Given the description of an element on the screen output the (x, y) to click on. 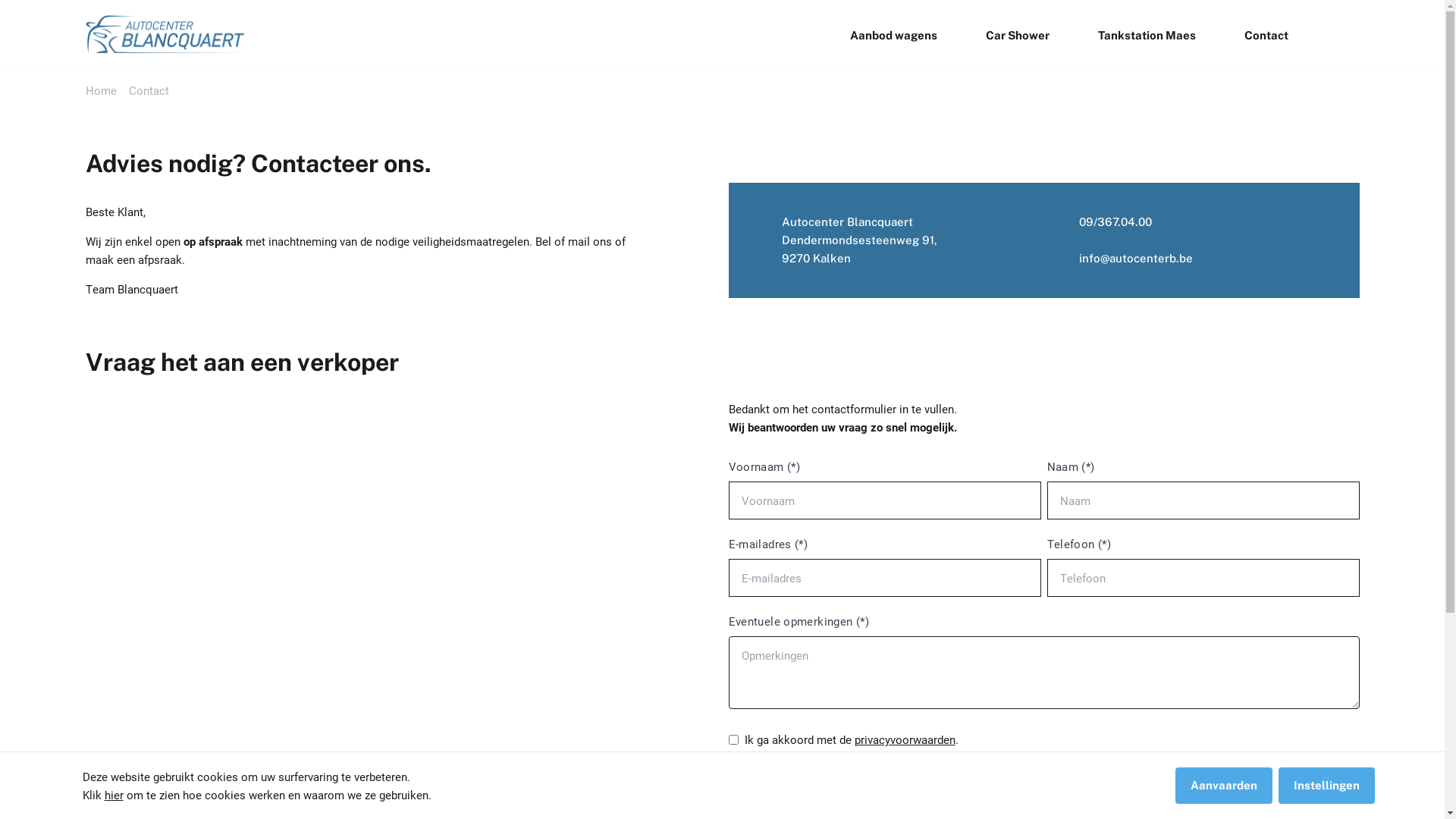
Tankstation Maes Element type: text (1146, 35)
Aanvaarden Element type: text (1223, 785)
Instellingen Element type: text (1326, 785)
Car Shower Element type: text (1017, 35)
Versturen Element type: text (770, 784)
Aanbod wagens Element type: text (892, 35)
09/367.04.00 Element type: text (1103, 222)
Contact Element type: text (1265, 35)
info@autocenterb.be Element type: text (1135, 258)
Adres Element type: hover (399, 601)
